Given the description of an element on the screen output the (x, y) to click on. 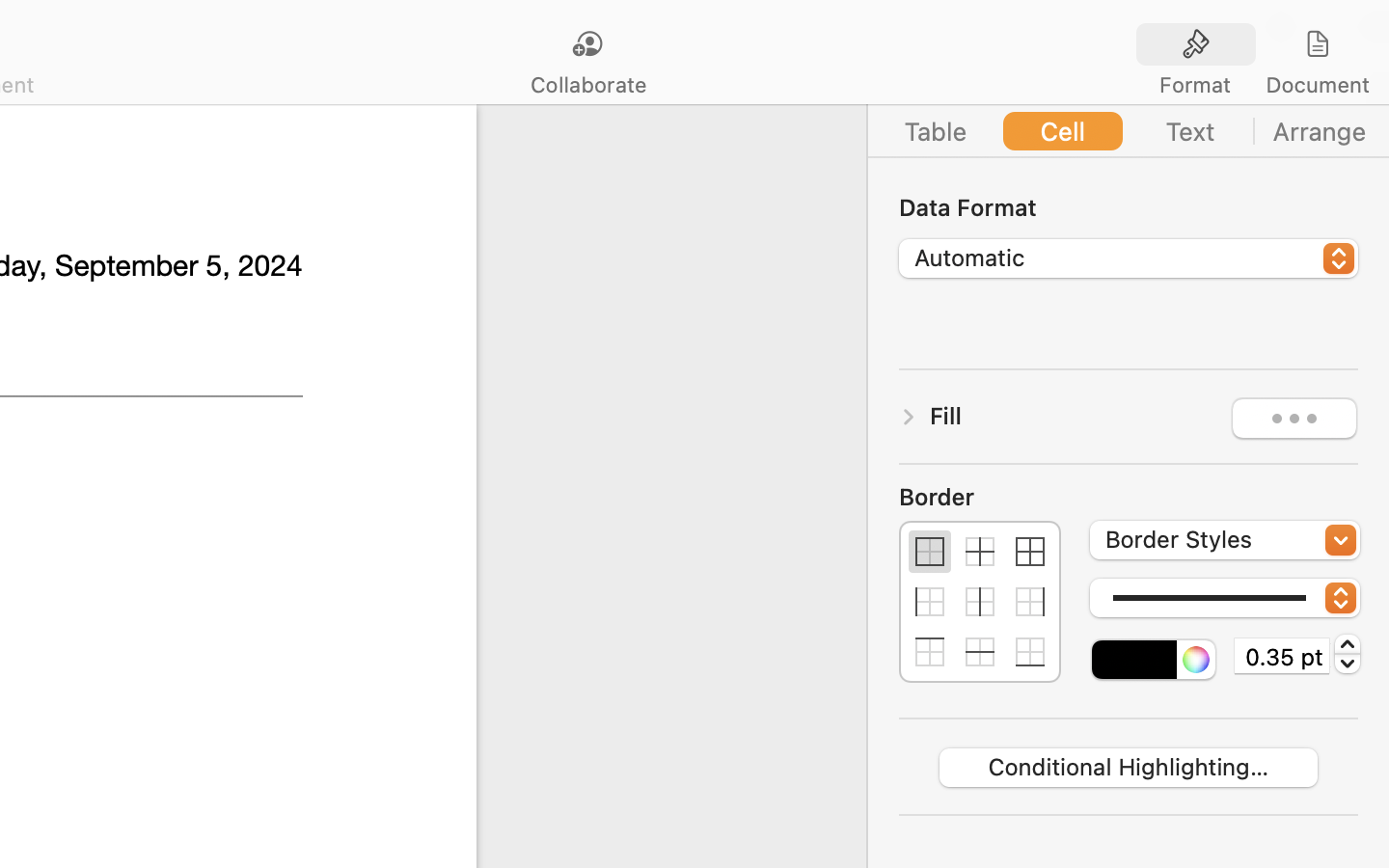
Document Element type: AXStaticText (1316, 84)
0.35 pt Element type: AXTextField (1281, 655)
Fill Element type: AXStaticText (946, 415)
Format Element type: AXStaticText (1194, 84)
Data Format Element type: AXStaticText (1128, 206)
